Given the description of an element on the screen output the (x, y) to click on. 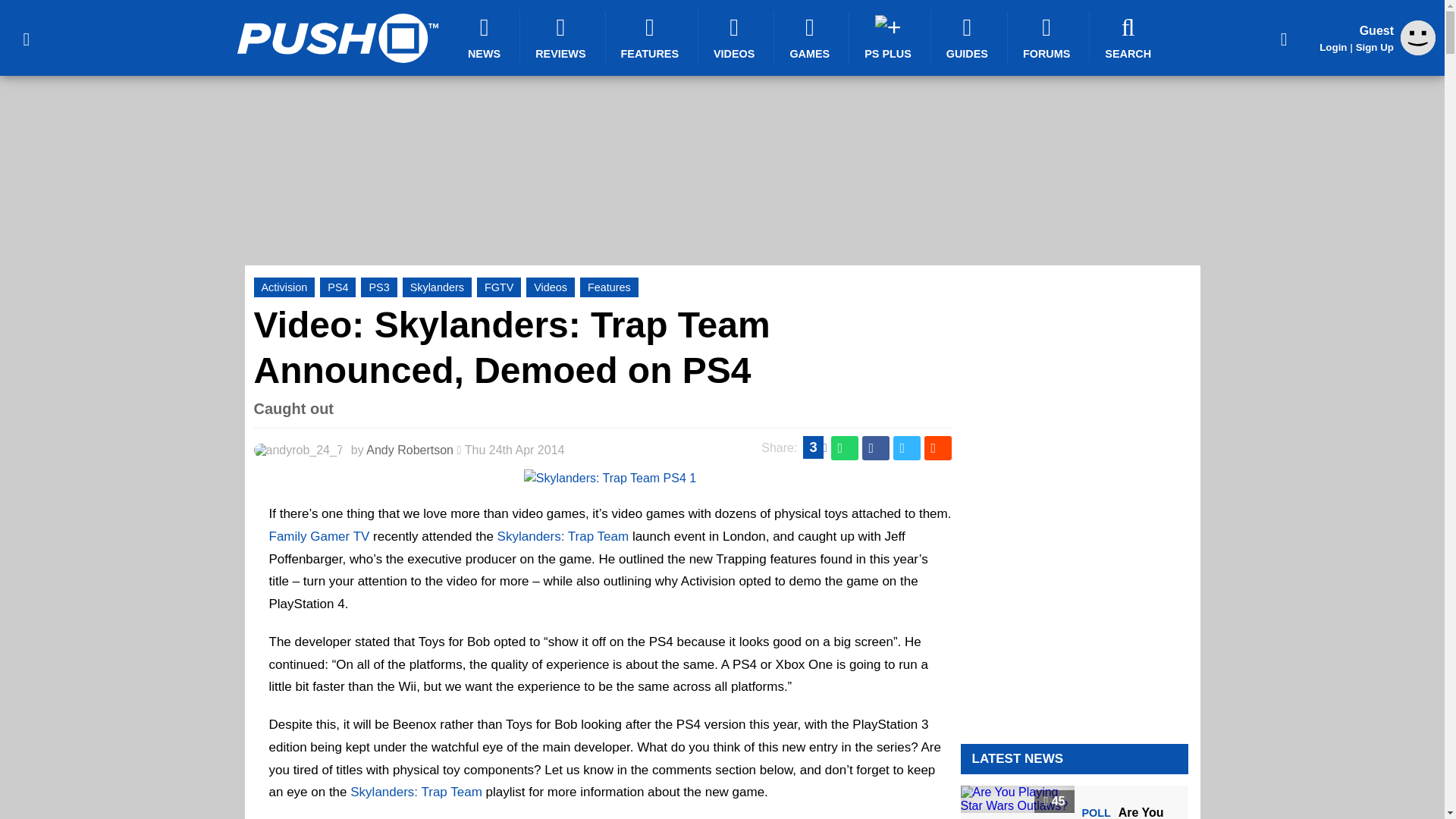
PS4 (337, 287)
NEWS (485, 37)
Skylanders (437, 287)
SEARCH (1129, 37)
Push Square (336, 38)
PS PLUS (889, 37)
Menu (26, 37)
Login (1332, 47)
Video: Skylanders: Trap Team Announced, Demoed on PS4 (511, 347)
FGTV (499, 287)
